Given the description of an element on the screen output the (x, y) to click on. 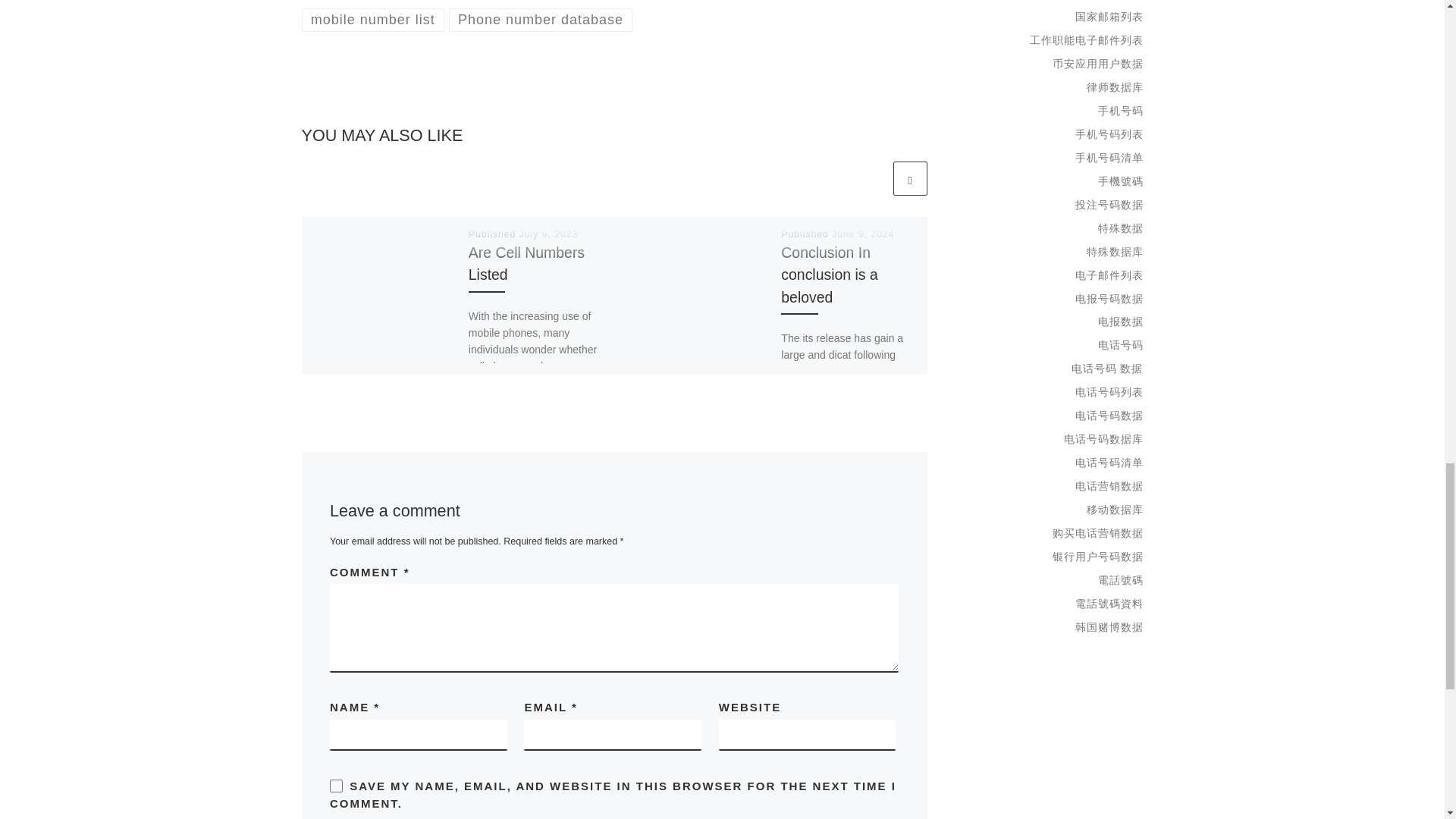
Next related articles (910, 178)
View all posts in mobile number list (373, 19)
Previous related articles (872, 178)
yes (336, 785)
View all posts in Phone number database (540, 19)
Are Cell Numbers Listed (526, 263)
Phone number database (540, 19)
Conclusion In conclusion is a beloved (828, 274)
July 9, 2023 (548, 234)
